Given the description of an element on the screen output the (x, y) to click on. 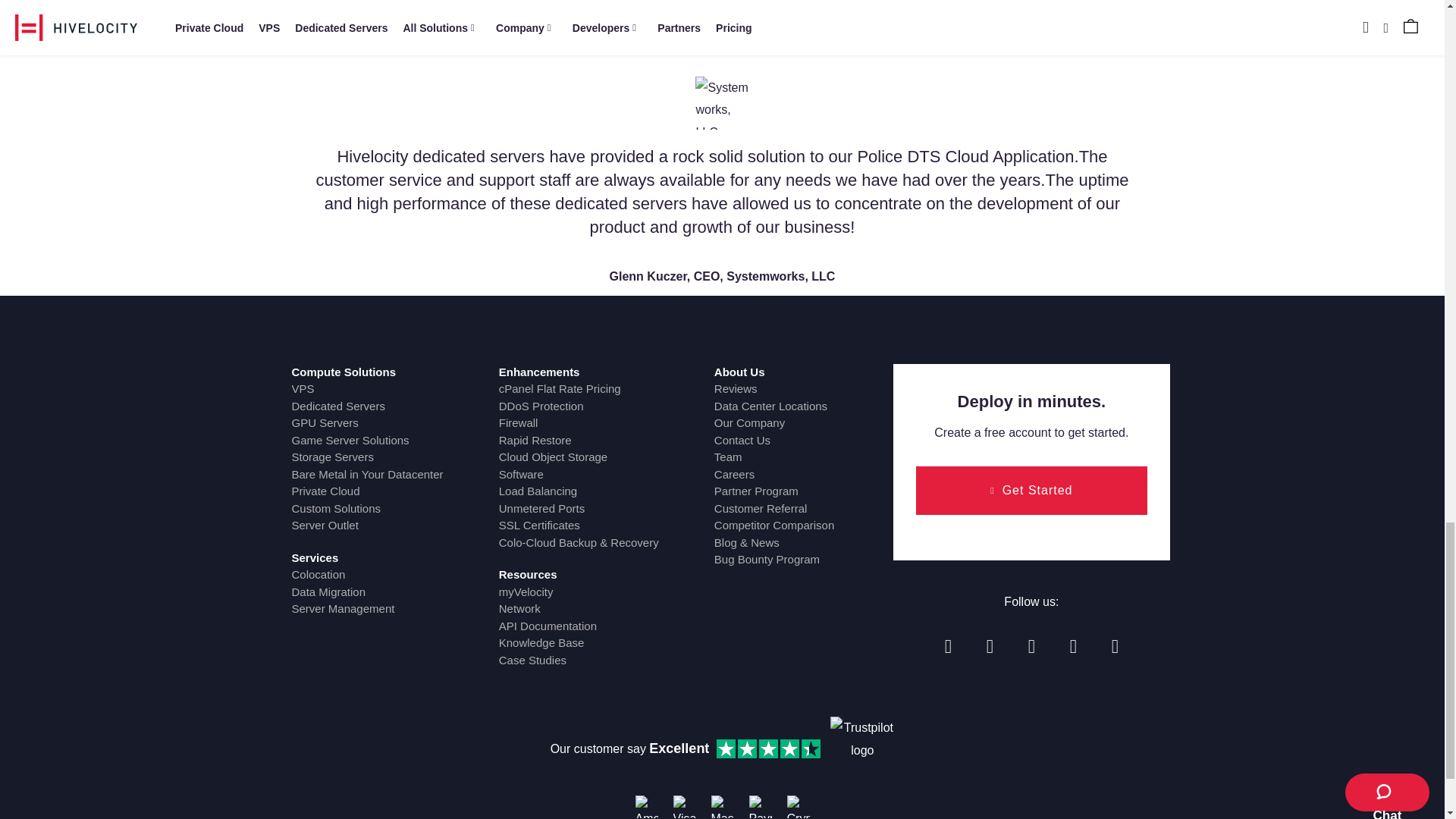
Paypal (760, 806)
Hivelocity on Twitter (989, 645)
Trustpilot logo (861, 748)
Hivelocity on Github (1072, 645)
American Express (646, 806)
Visa (683, 806)
Hivelocity on Facebook (947, 645)
Hivelocity on Linkedin (1031, 645)
Mastercard (722, 806)
Hivelocity on Discord (1115, 645)
